Given the description of an element on the screen output the (x, y) to click on. 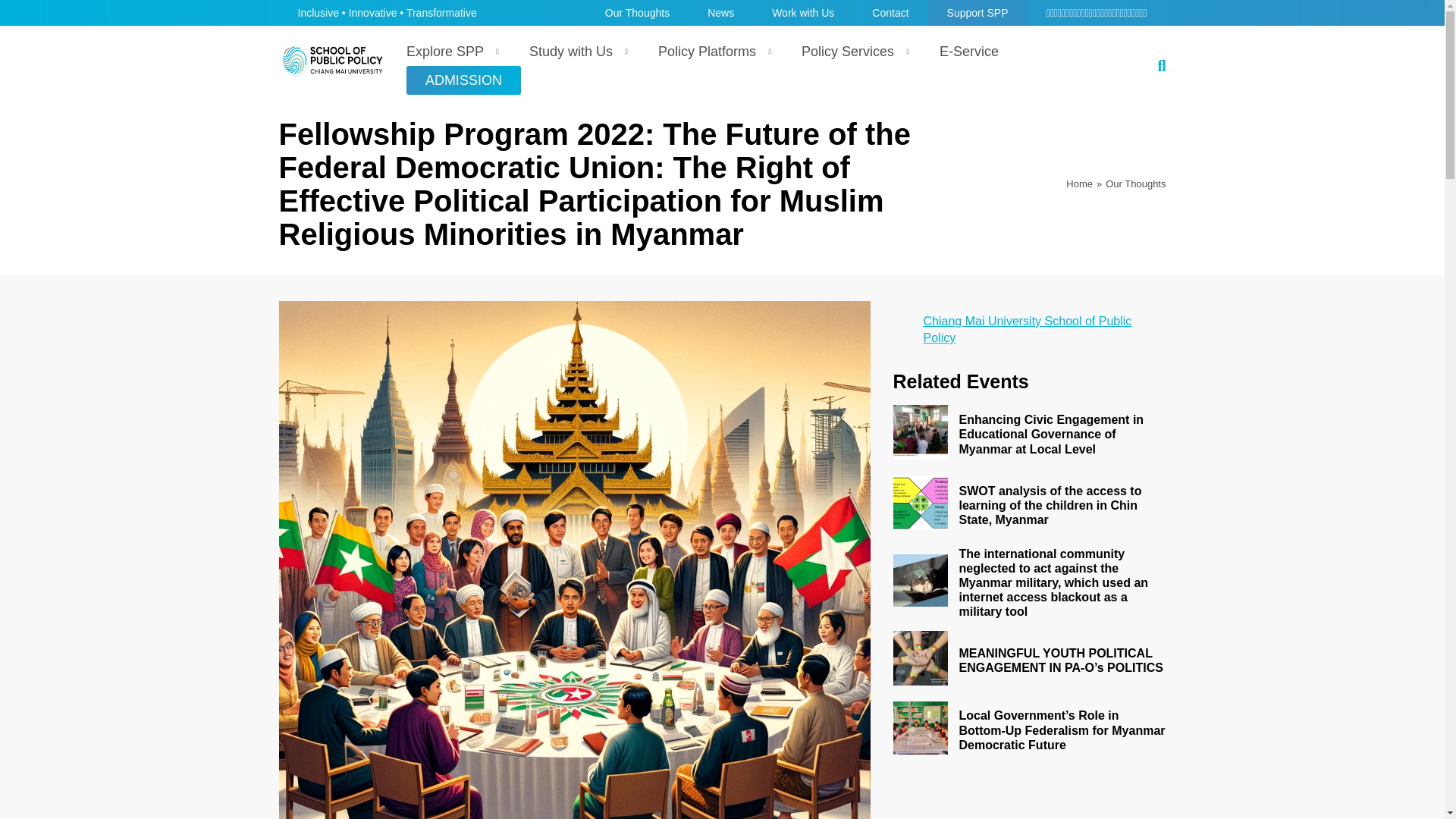
Explore SPP (449, 51)
Work with Us (802, 12)
ADMISSION (463, 80)
Policy Services (851, 51)
E-Service (968, 51)
Support SPP (977, 12)
Study with Us (575, 51)
News (720, 12)
Policy Platforms (711, 51)
Contact (890, 12)
Our Thoughts (637, 12)
Our Thoughts (1135, 183)
Home (1079, 183)
